Given the description of an element on the screen output the (x, y) to click on. 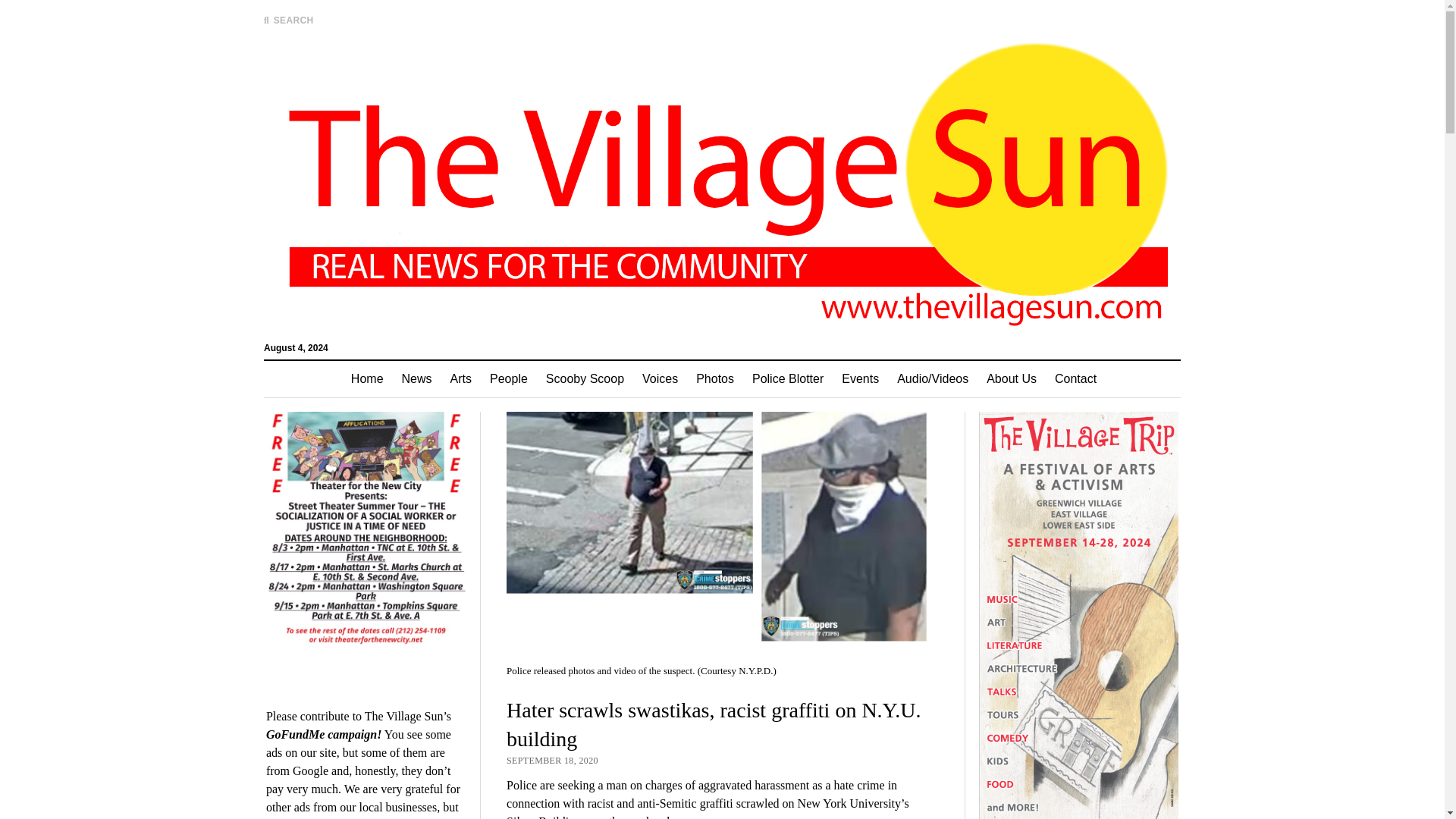
Contact (1075, 379)
Photos (714, 379)
Scooby Scoop (585, 379)
Home (367, 379)
Search (945, 129)
Events (860, 379)
SEARCH (288, 20)
About Us (1010, 379)
Voices (660, 379)
Arts (460, 379)
News (417, 379)
Police Blotter (787, 379)
People (508, 379)
